Given the description of an element on the screen output the (x, y) to click on. 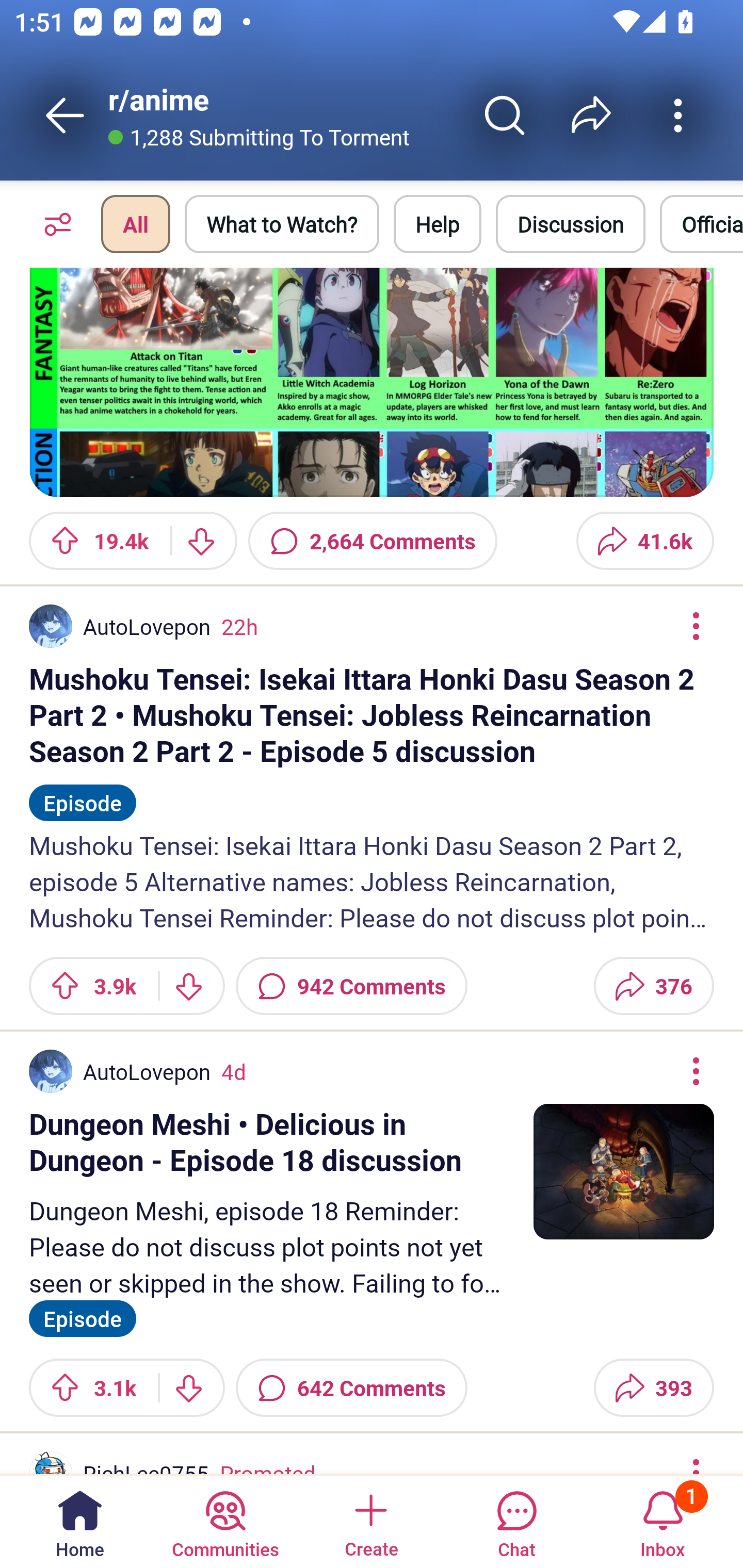
Back (64, 115)
Search r/﻿anime (504, 115)
Share r/﻿anime (591, 115)
More community actions (677, 115)
Feed Options (53, 224)
All (135, 224)
What to Watch? (281, 224)
Help (437, 224)
Discussion (570, 224)
Official Media (701, 224)
Episode (81, 793)
Episode (81, 1315)
Home (80, 1520)
Communities (225, 1520)
Create a post Create (370, 1520)
Chat (516, 1520)
Inbox, has 1 notification 1 Inbox (662, 1520)
